Given the description of an element on the screen output the (x, y) to click on. 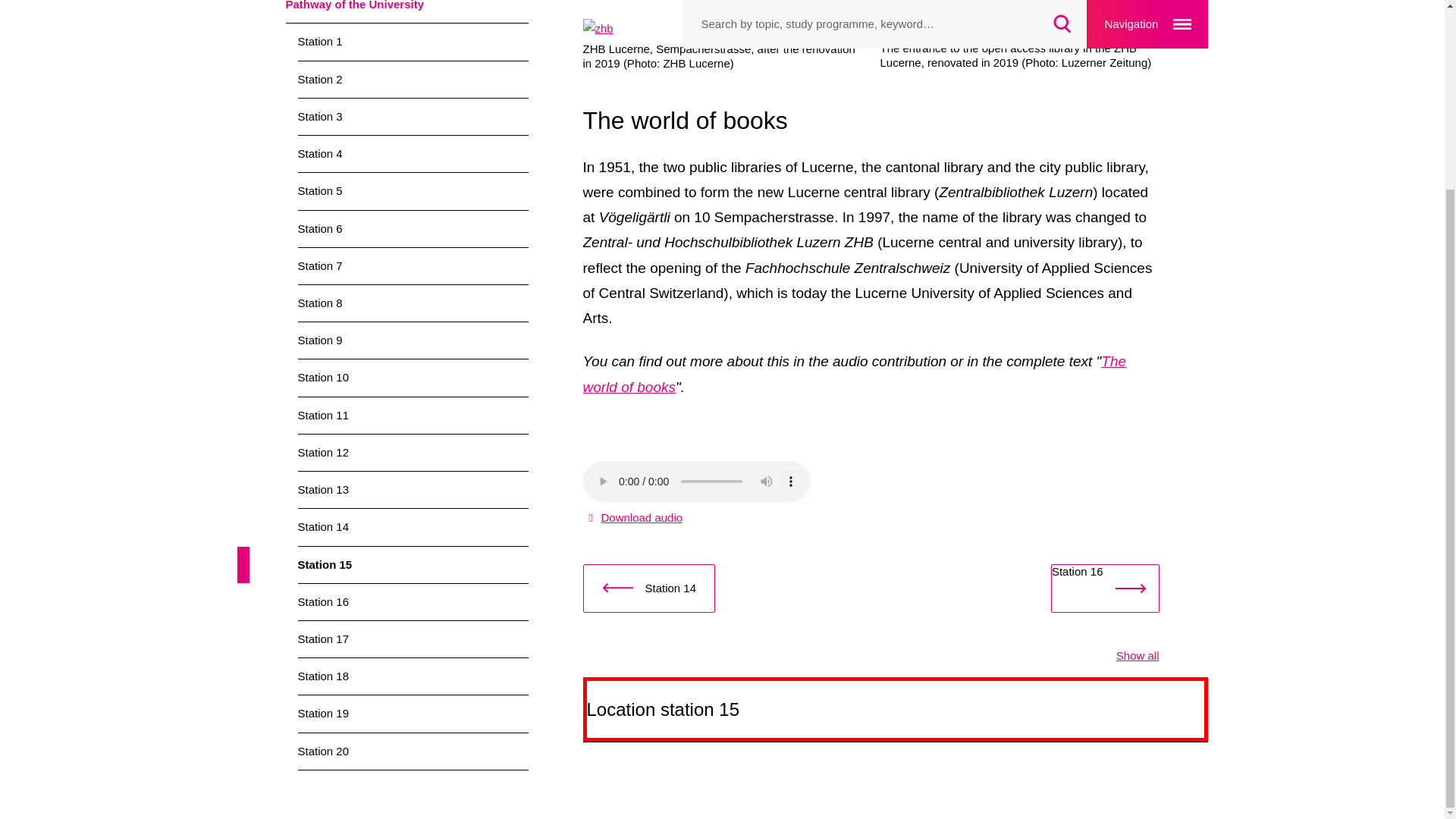
Station 4 (412, 153)
Station 11 (412, 415)
Station 2 (412, 79)
Station 1 (412, 41)
Station 3 (412, 116)
Station 9 (412, 340)
Station 6 (412, 228)
Station 10 (412, 377)
Station 5 (412, 190)
Station 7 (412, 266)
